Given the description of an element on the screen output the (x, y) to click on. 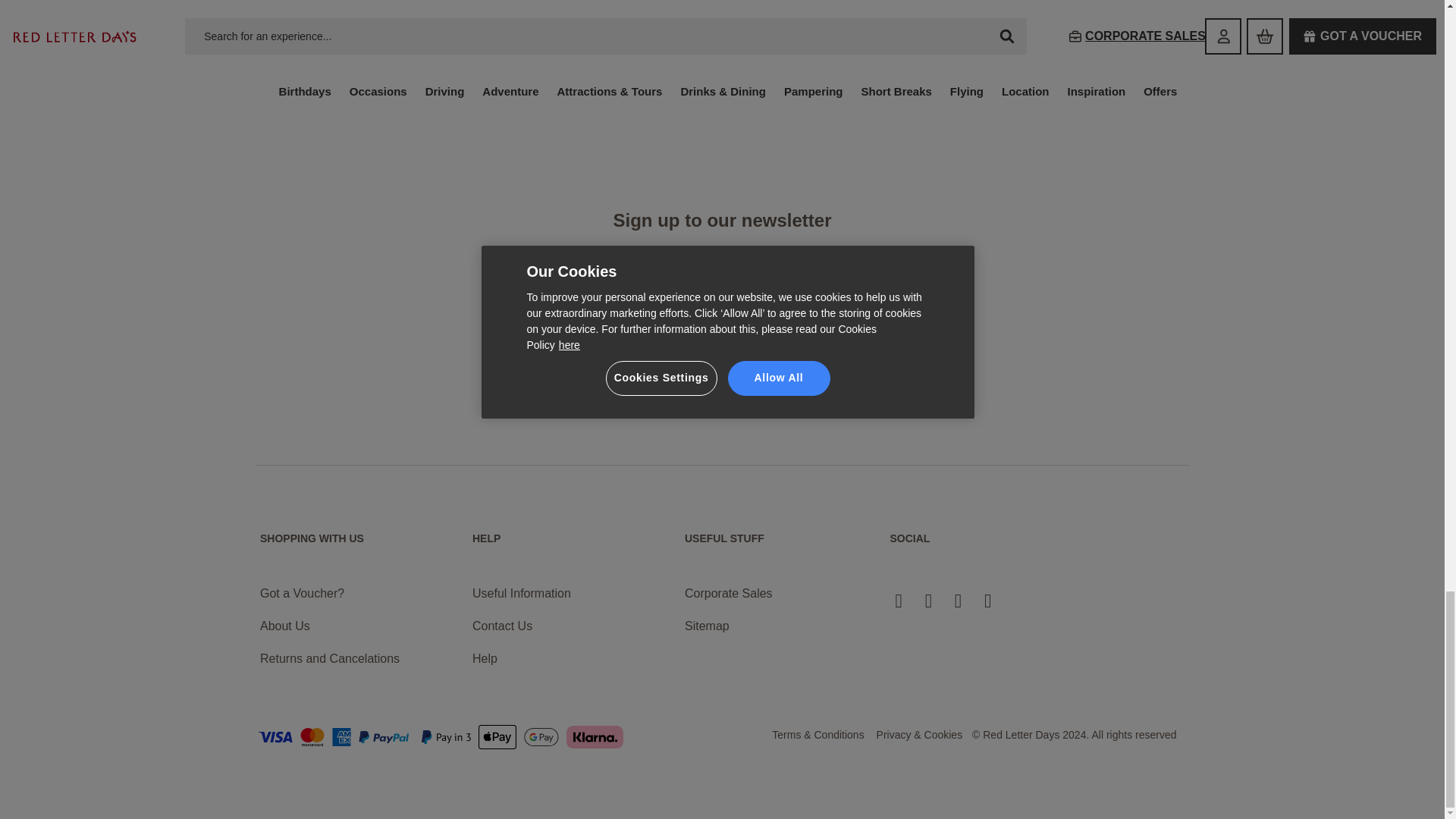
Subscribe (868, 392)
